Given the description of an element on the screen output the (x, y) to click on. 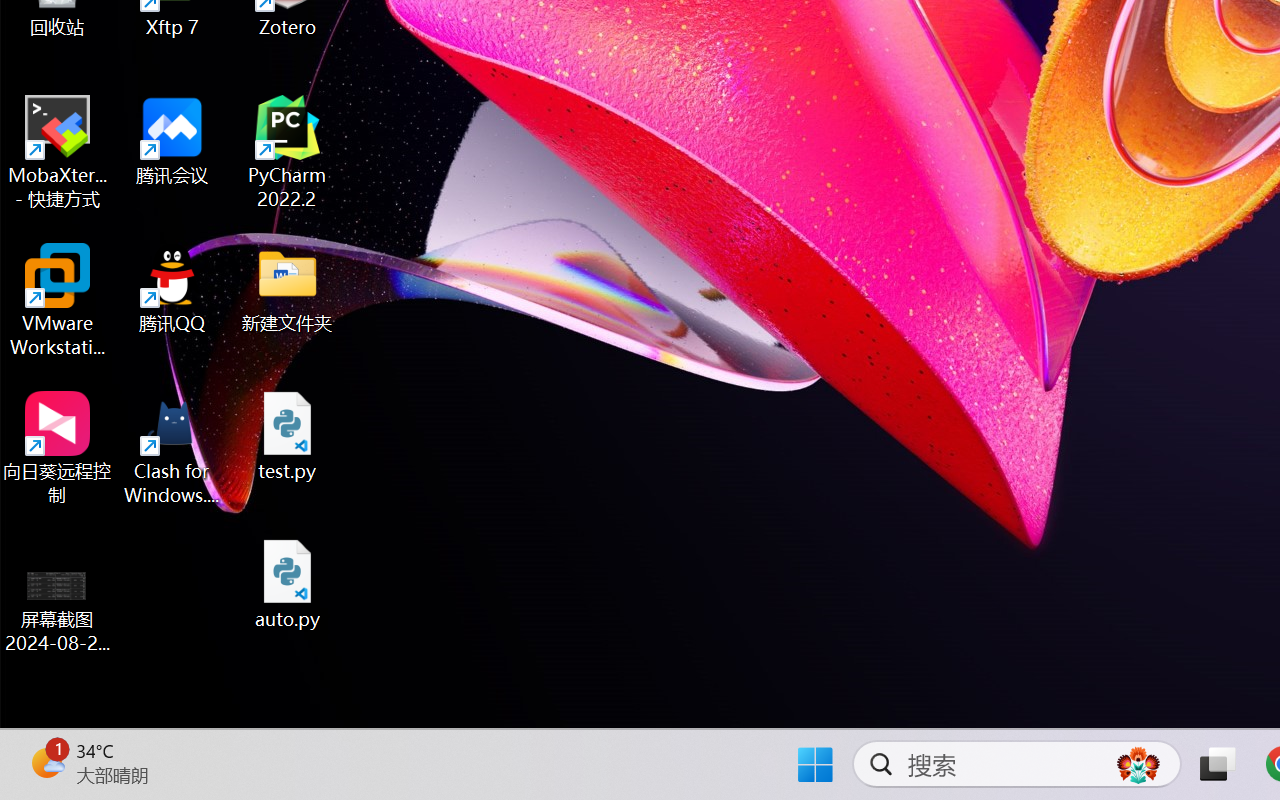
auto.py (287, 584)
